Given the description of an element on the screen output the (x, y) to click on. 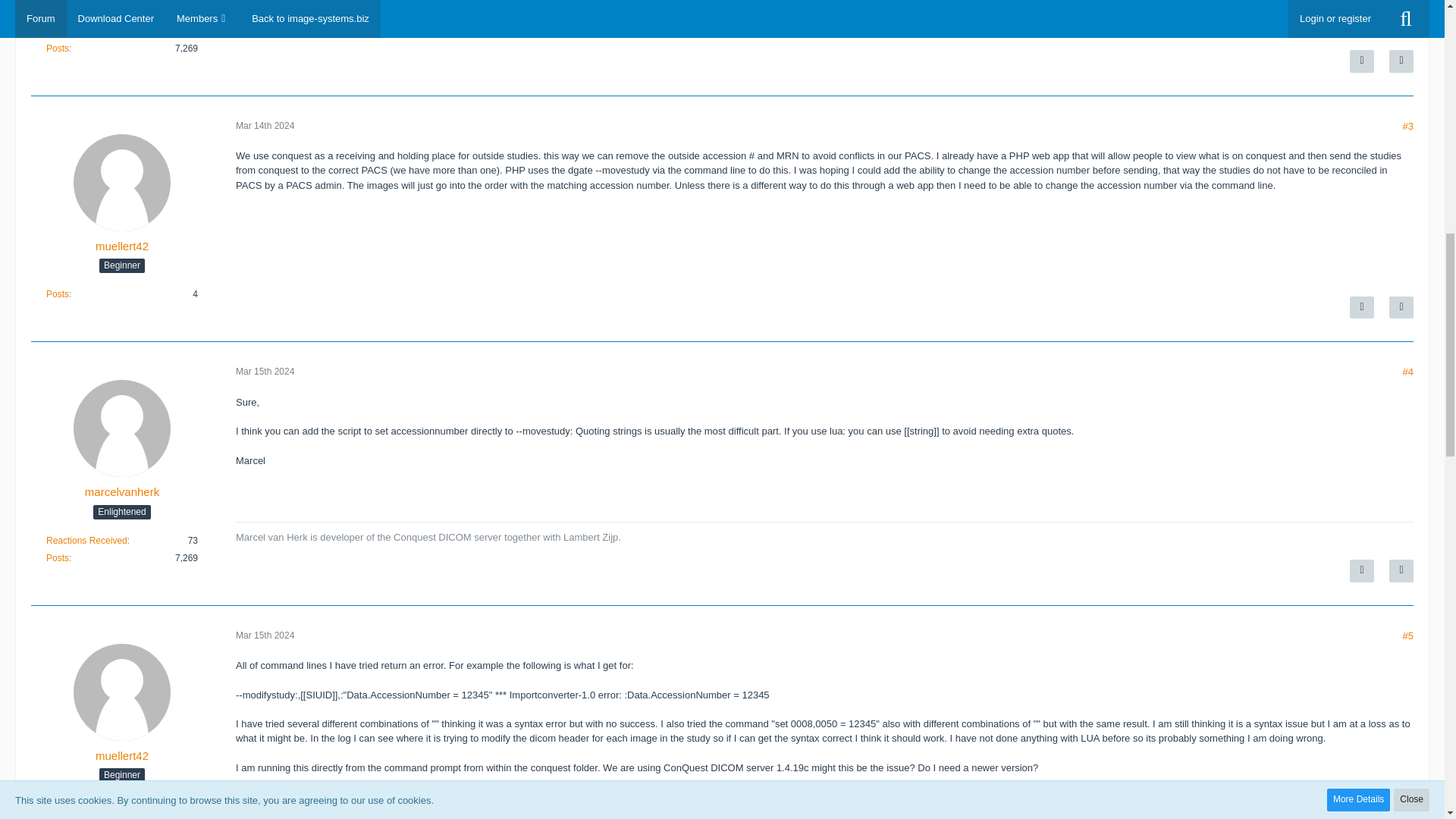
Reactions Received (87, 30)
Posts (57, 48)
